Given the description of an element on the screen output the (x, y) to click on. 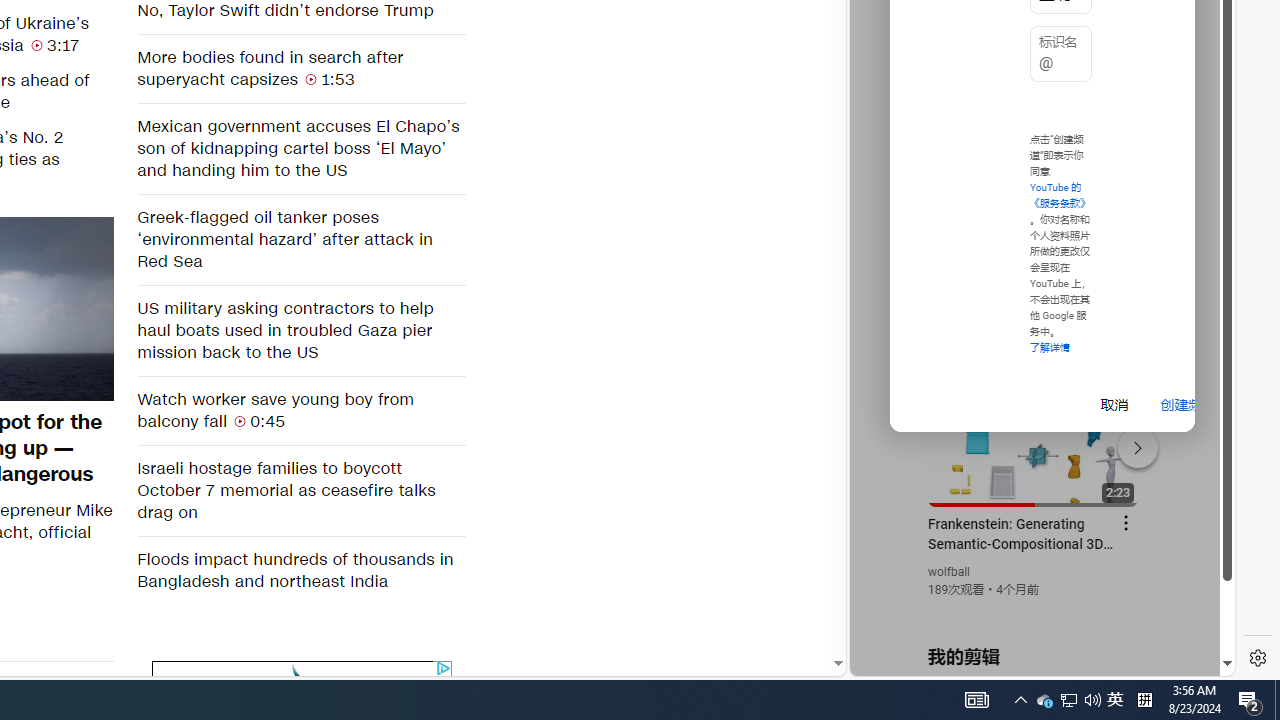
Click to scroll right (1196, 83)
Show desktop (1277, 699)
YouTube - YouTube (1034, 266)
Watch worker save young boy from balcony fall 0:45 (300, 410)
you (1034, 609)
User Promoted Notification Area (1044, 699)
